Given the description of an element on the screen output the (x, y) to click on. 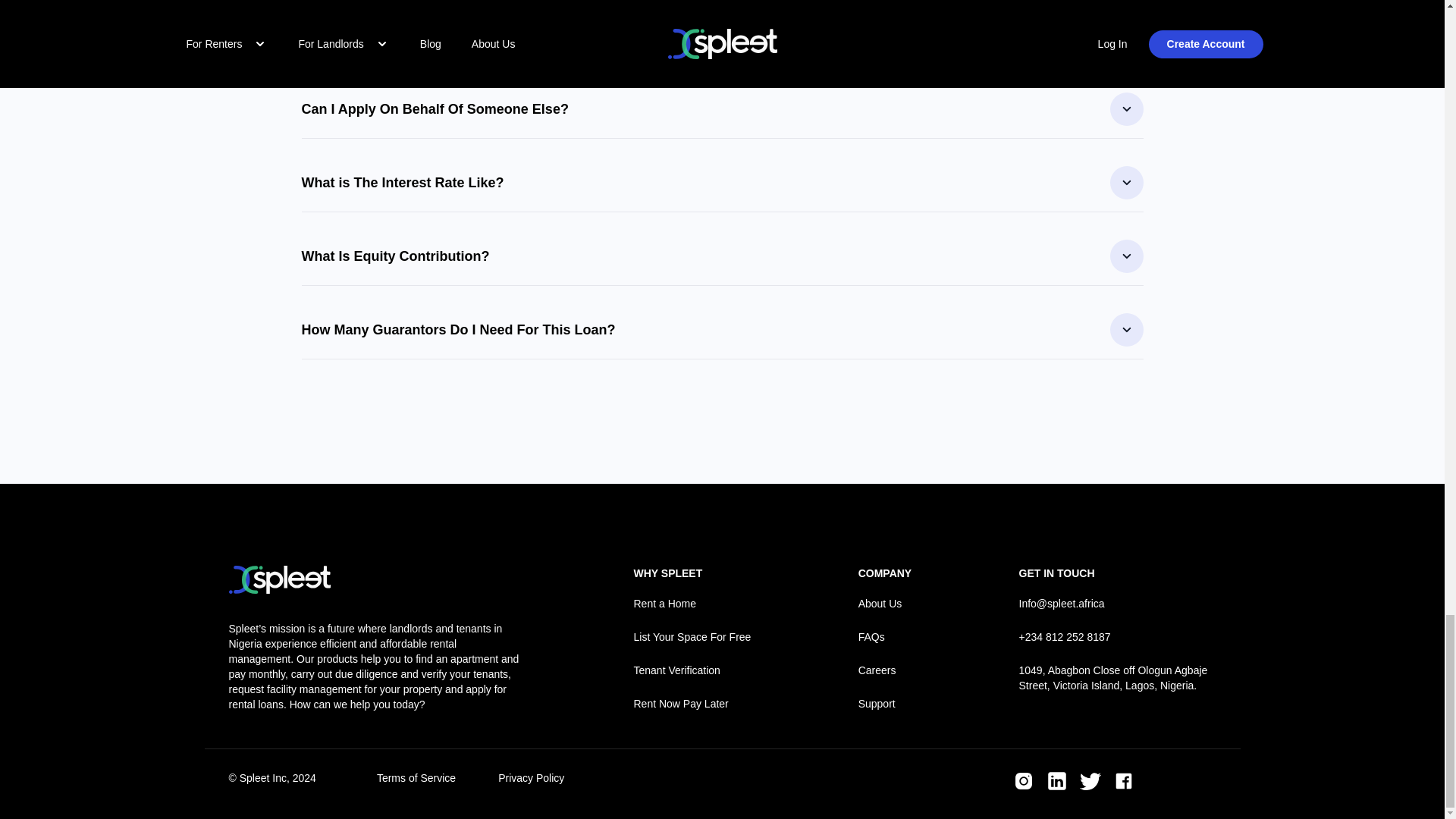
FAQs (885, 636)
How Soon Can I Start Using Rent Now, Pay Later? (721, 35)
Support (885, 703)
Privacy Policy (530, 780)
Rent a Home (692, 603)
Tenant Verification (692, 670)
Terms of Service (416, 780)
How Many Guarantors Do I Need For This Loan? (721, 329)
What Is Equity Contribution? (721, 255)
About Us (885, 603)
